Given the description of an element on the screen output the (x, y) to click on. 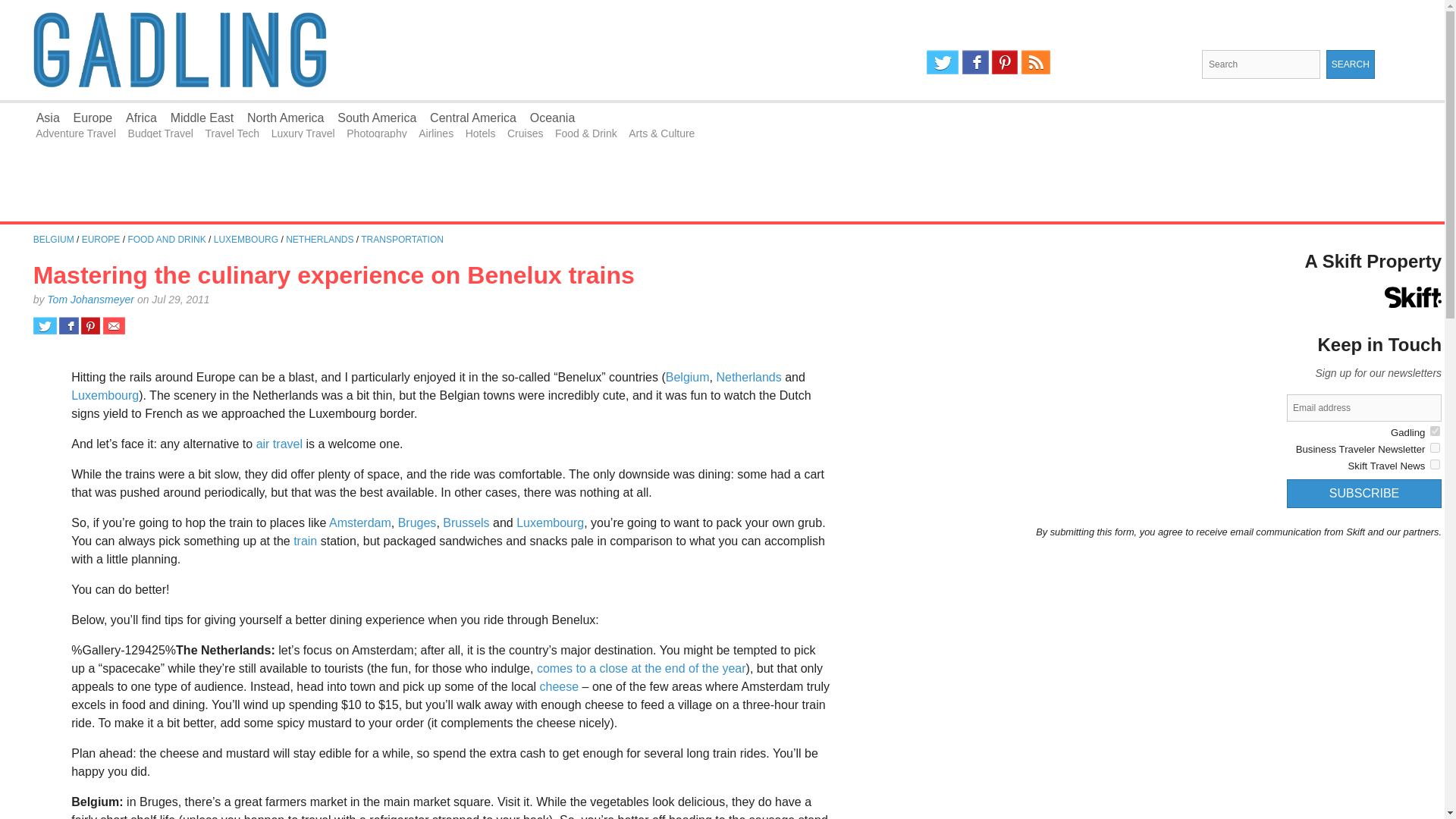
Travel Tech (232, 133)
North America (285, 117)
Luxury Travel (302, 133)
Cruises (524, 133)
LUXEMBOURG (246, 239)
BELGIUM (53, 239)
Africa (141, 117)
South America (376, 117)
Share on Facebook (68, 325)
Twitter (942, 61)
